Given the description of an element on the screen output the (x, y) to click on. 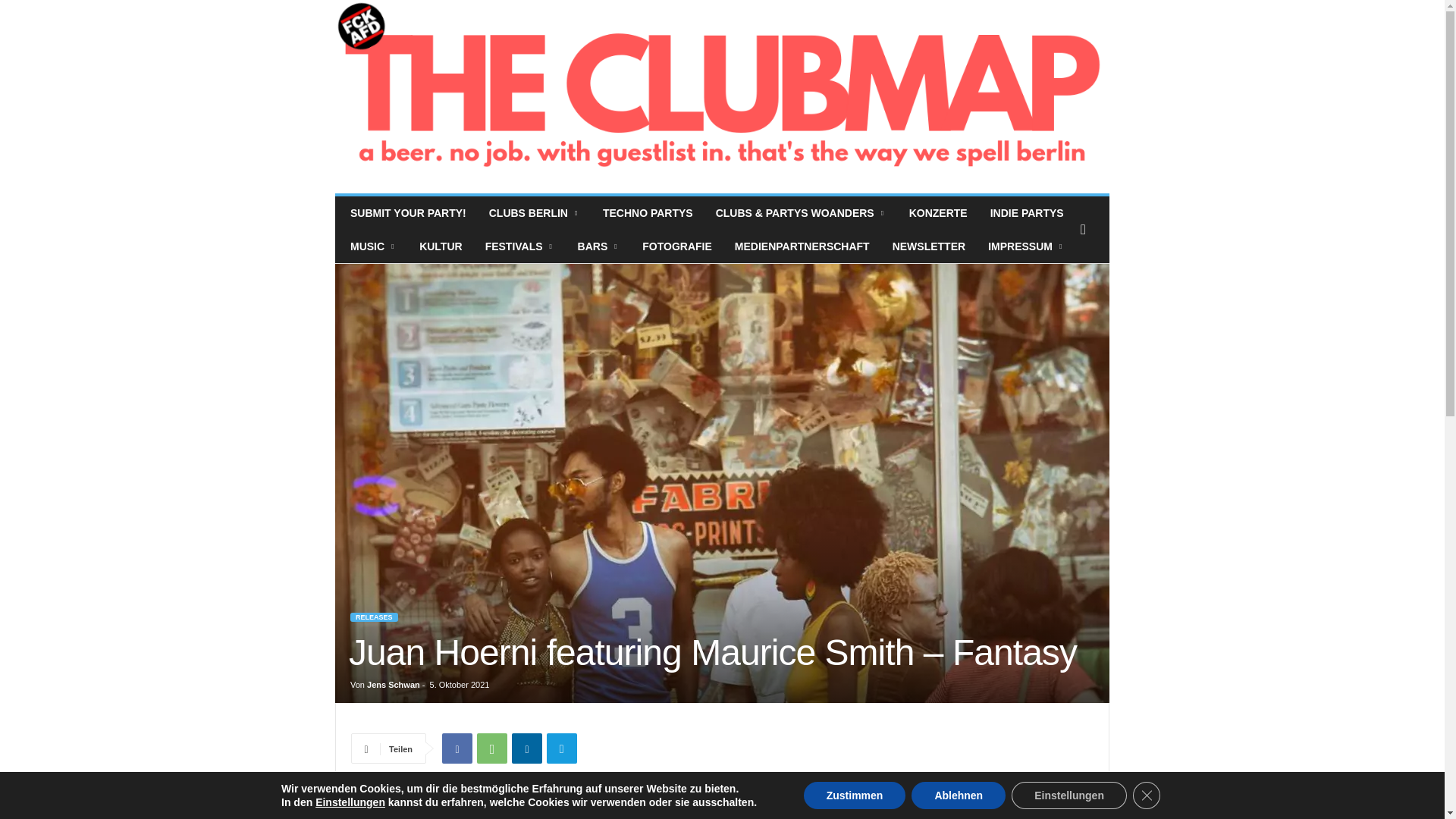
CLUBS und PARTYS IN DEUTSCHLAND (801, 213)
